Given the description of an element on the screen output the (x, y) to click on. 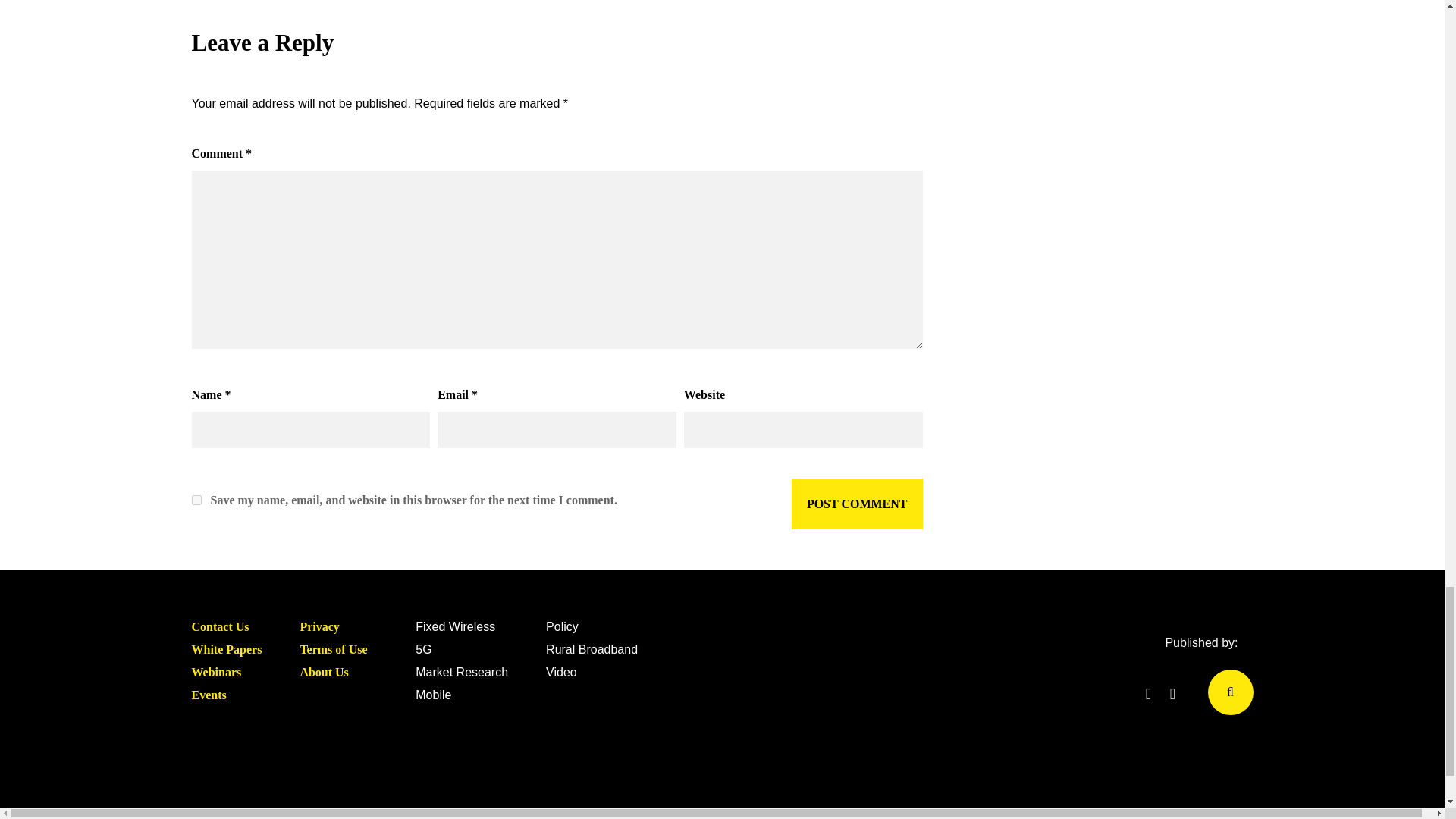
yes (195, 500)
Post Comment (857, 503)
